Given the description of an element on the screen output the (x, y) to click on. 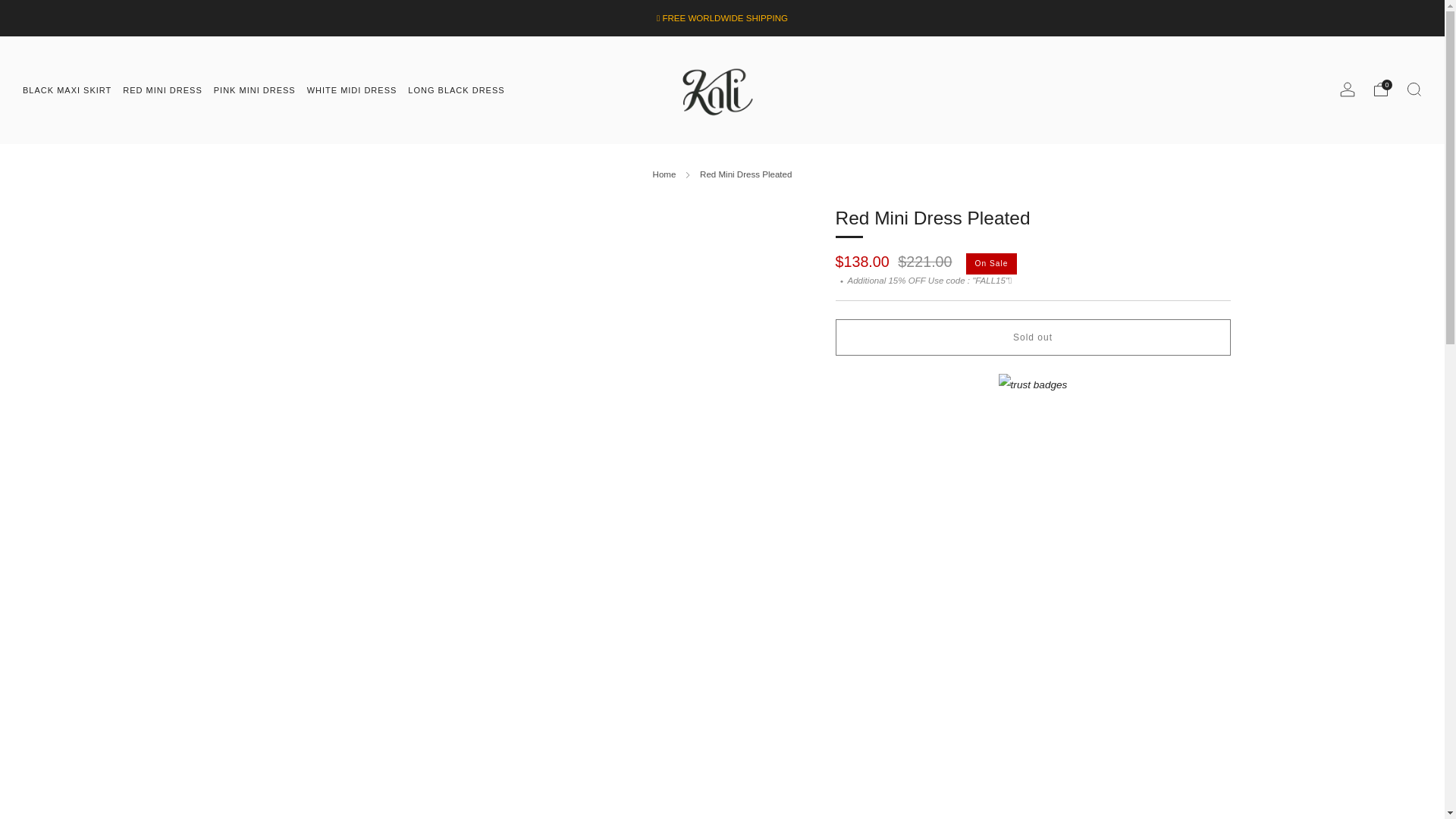
Sold out (1032, 337)
LONG BLACK DRESS (455, 88)
Home (664, 174)
RED MINI DRESS (162, 88)
PINK MINI DRESS (254, 88)
0 (1381, 89)
Home (664, 174)
BLACK MAXI SKIRT (67, 88)
WHITE MIDI DRESS (352, 88)
